Given the description of an element on the screen output the (x, y) to click on. 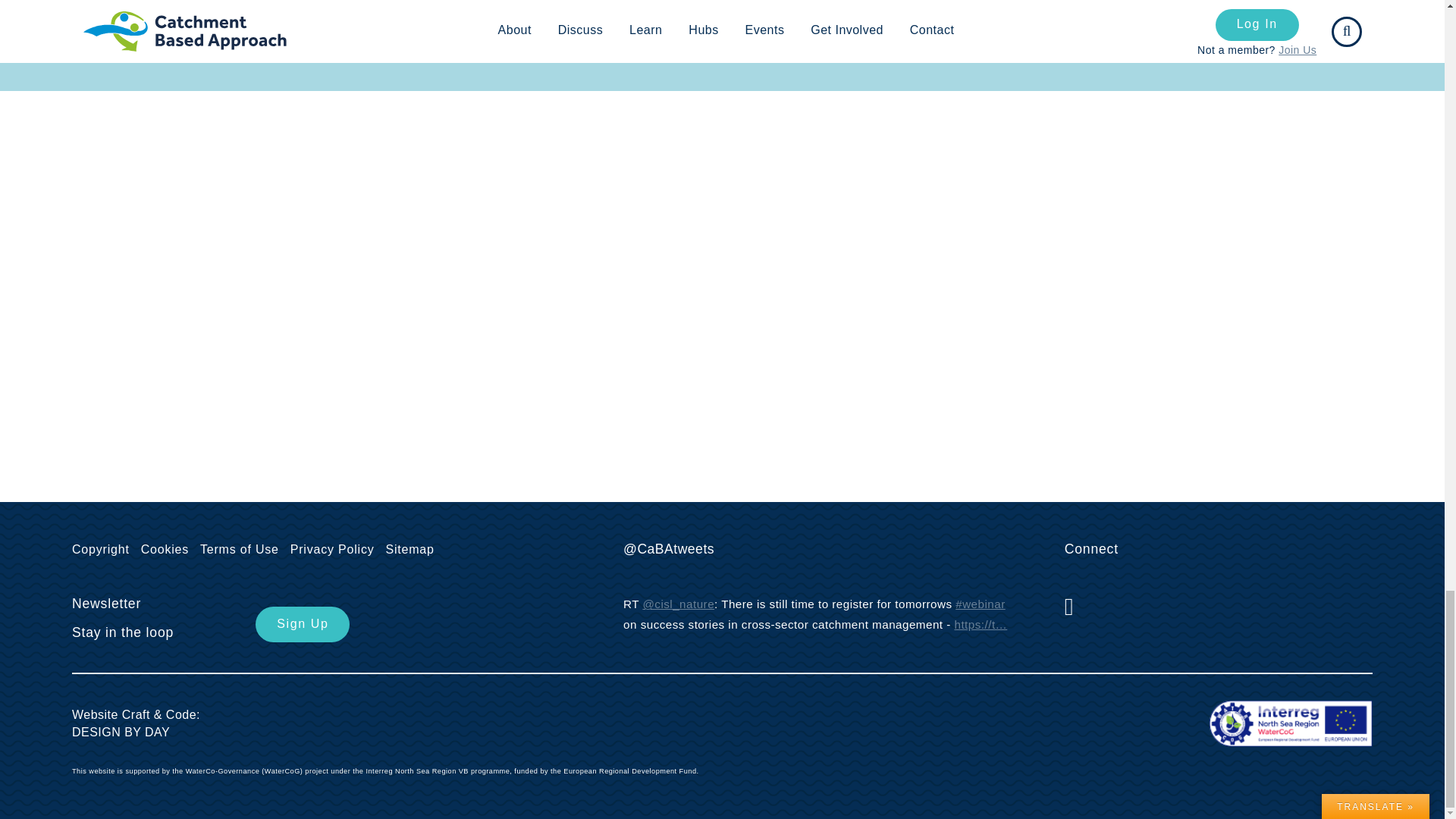
Terms of Use (243, 549)
Copyright (103, 549)
Cookies (168, 549)
